Given the description of an element on the screen output the (x, y) to click on. 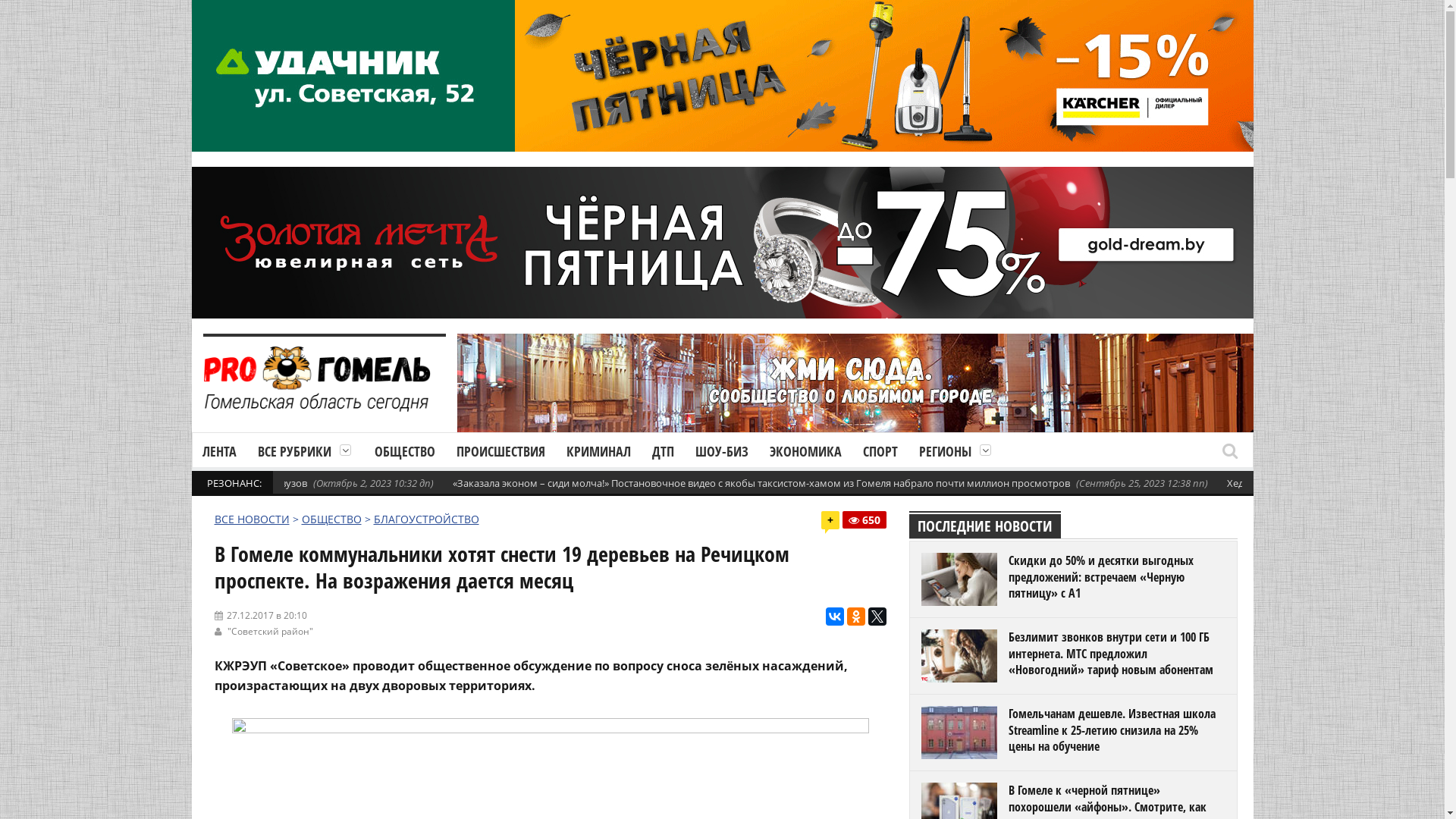
Twitter Element type: hover (877, 616)
+ Element type: text (832, 522)
